Given the description of an element on the screen output the (x, y) to click on. 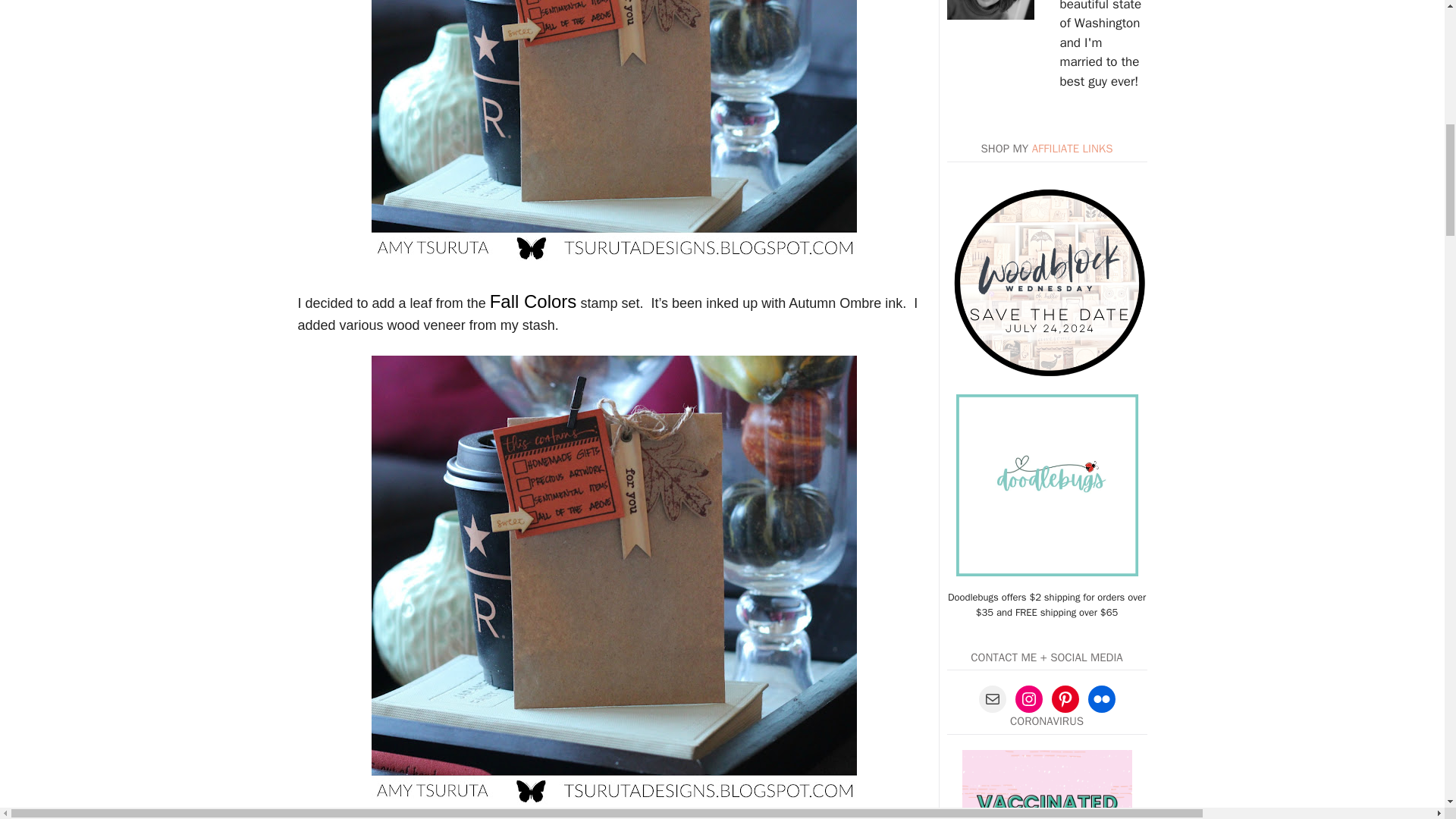
AFFILIATE LINKS (1072, 148)
Fall Colors (532, 303)
